Given the description of an element on the screen output the (x, y) to click on. 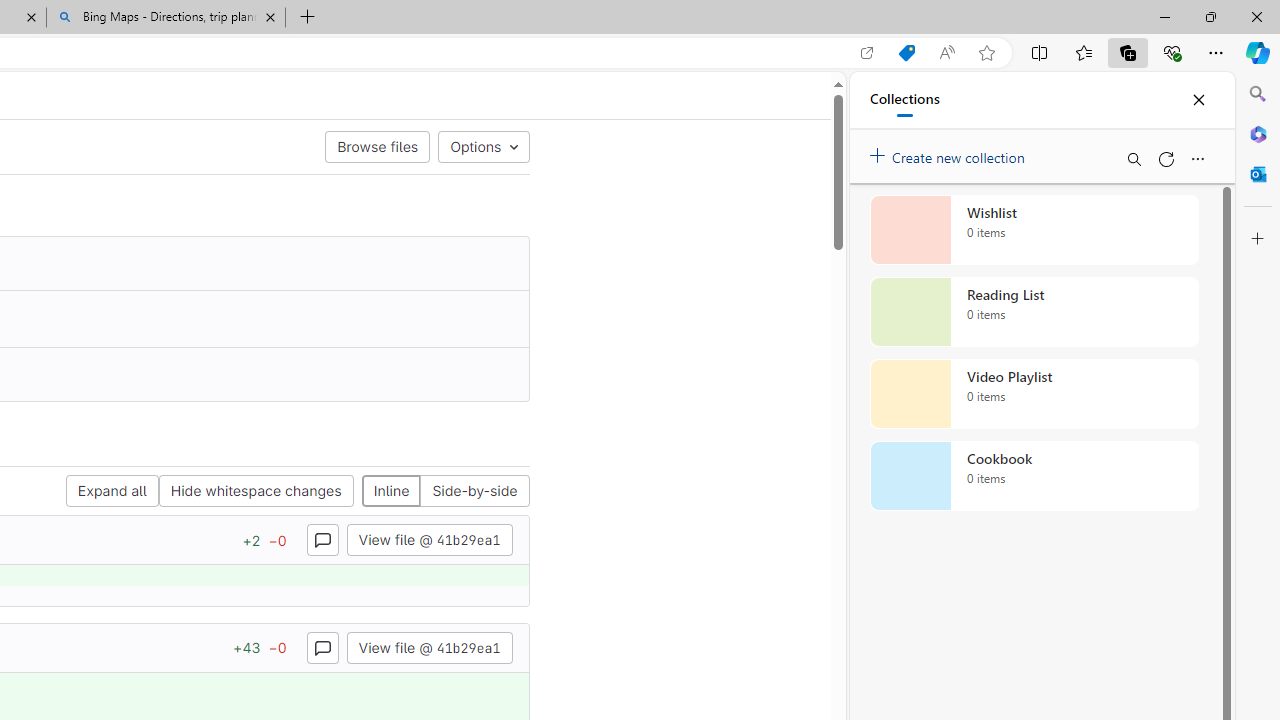
Minimize (1164, 16)
Cookbook collection, 0 items (1034, 475)
Settings and more (Alt+F) (1215, 52)
Hide whitespace changes (255, 491)
Open in app (867, 53)
Microsoft 365 (1258, 133)
Options (483, 146)
